Given the description of an element on the screen output the (x, y) to click on. 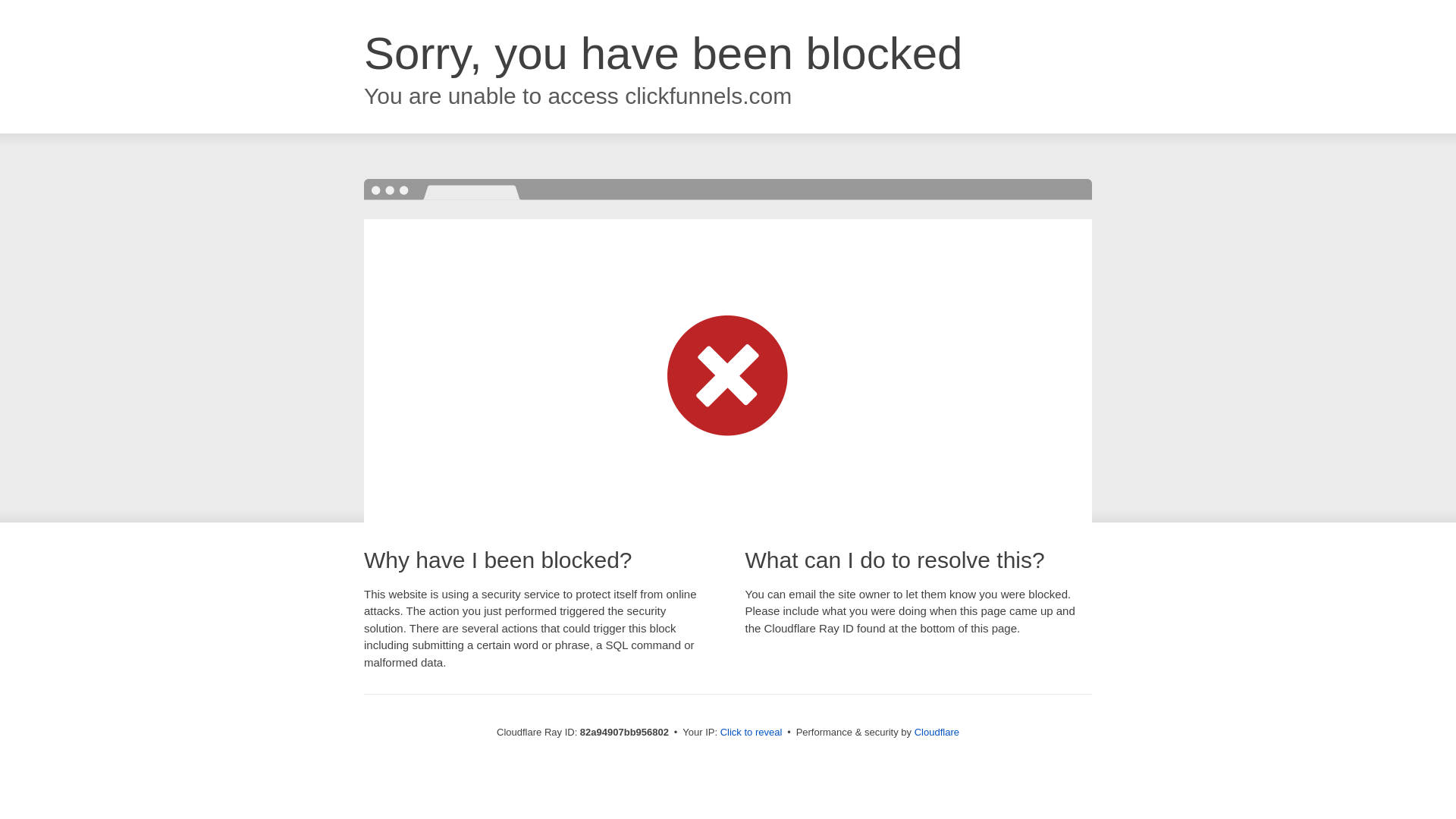
Click to reveal Element type: text (751, 732)
Cloudflare Element type: text (936, 731)
